Given the description of an element on the screen output the (x, y) to click on. 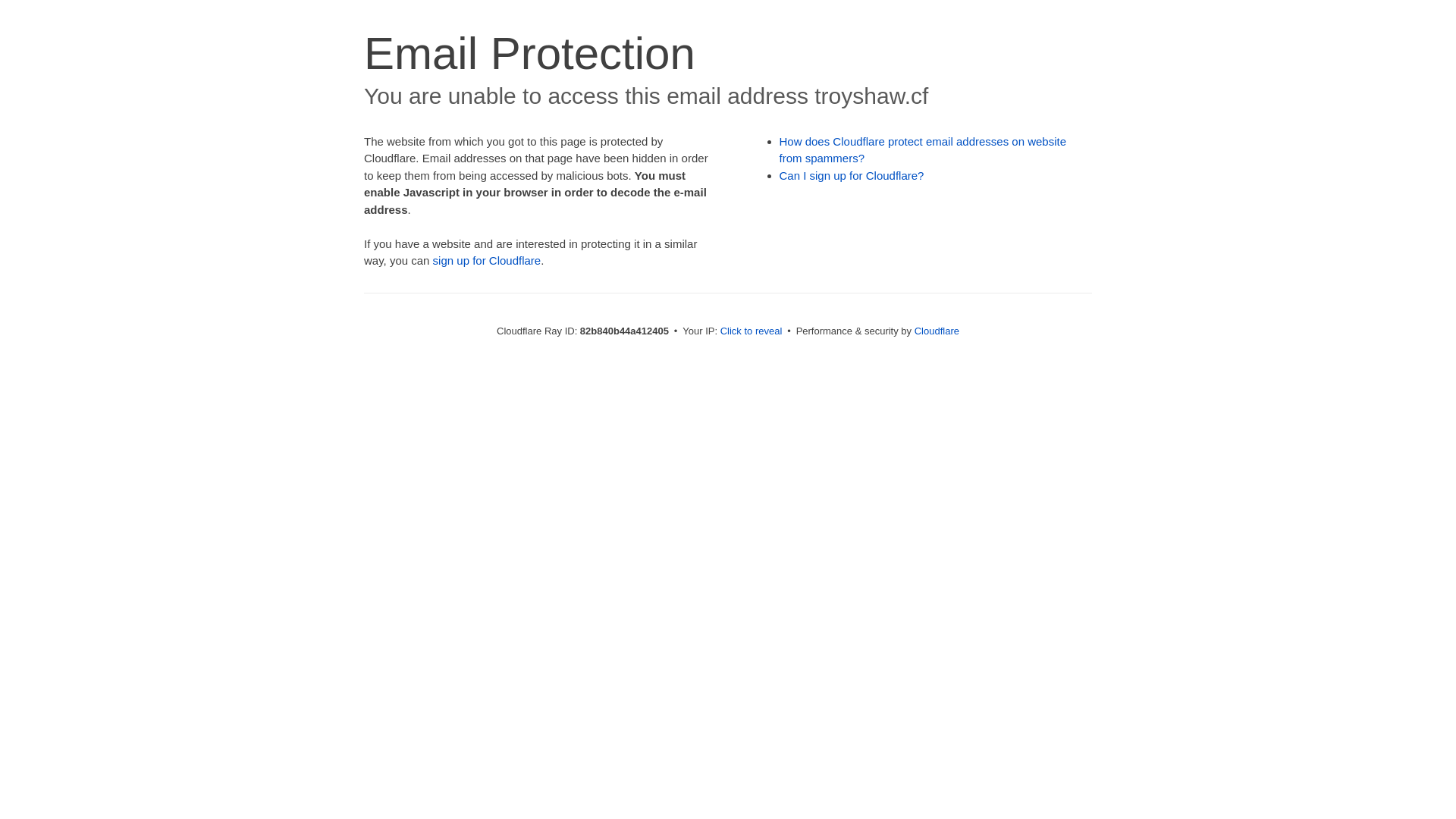
Can I sign up for Cloudflare? Element type: text (851, 175)
sign up for Cloudflare Element type: text (487, 260)
Cloudflare Element type: text (936, 330)
Click to reveal Element type: text (751, 330)
